Given the description of an element on the screen output the (x, y) to click on. 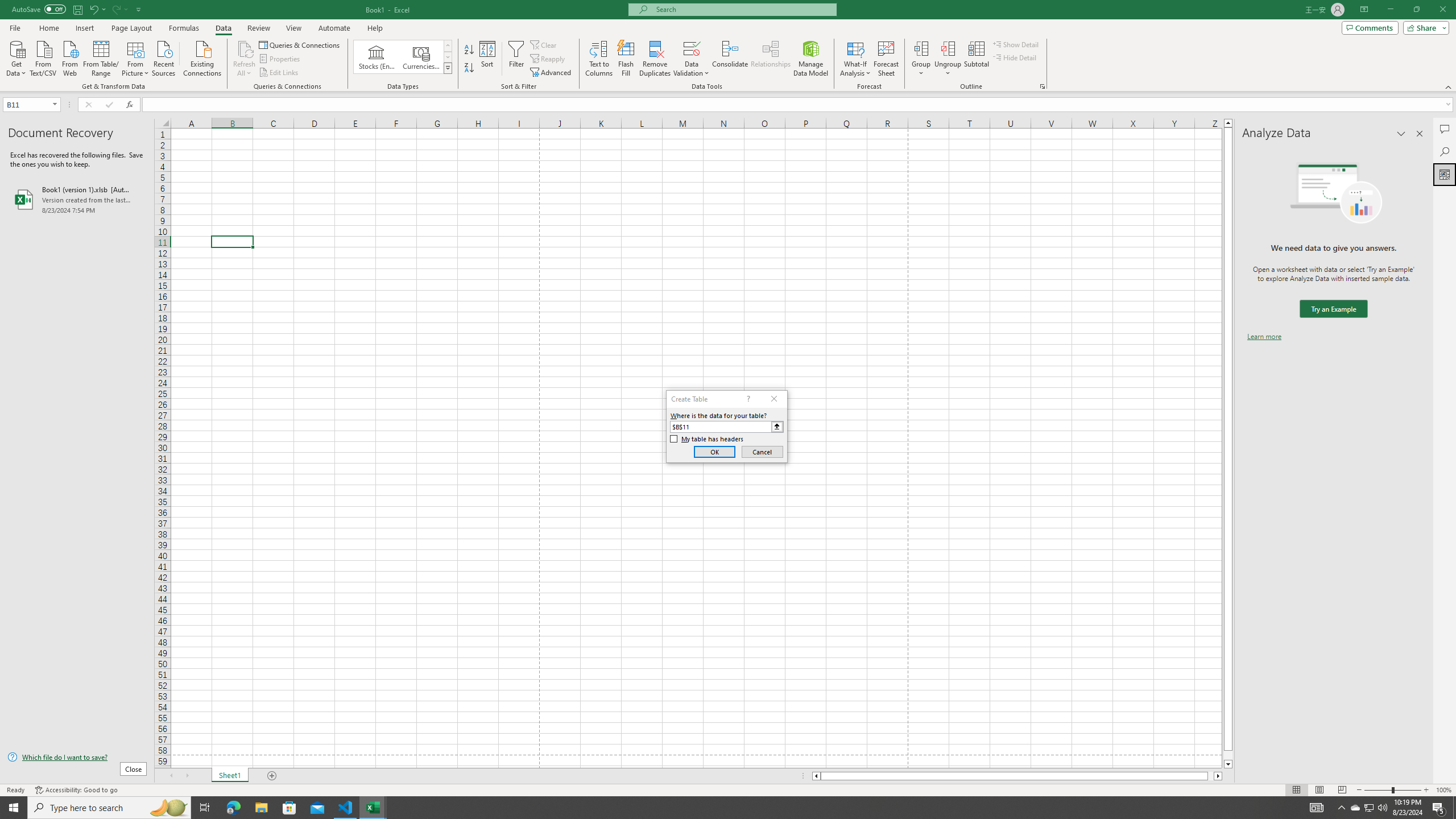
Queries & Connections (300, 44)
Row Down (448, 56)
Formulas (184, 28)
Data Validation... (691, 48)
Class: MsoCommandBar (728, 45)
Minimize (1390, 9)
Accessibility Checker Accessibility: Good to go (76, 790)
Which file do I want to save? (77, 757)
Insert (83, 28)
Group and Outline Settings (1042, 85)
Line down (1228, 764)
Class: NetUIImage (447, 68)
Data (223, 28)
